Given the description of an element on the screen output the (x, y) to click on. 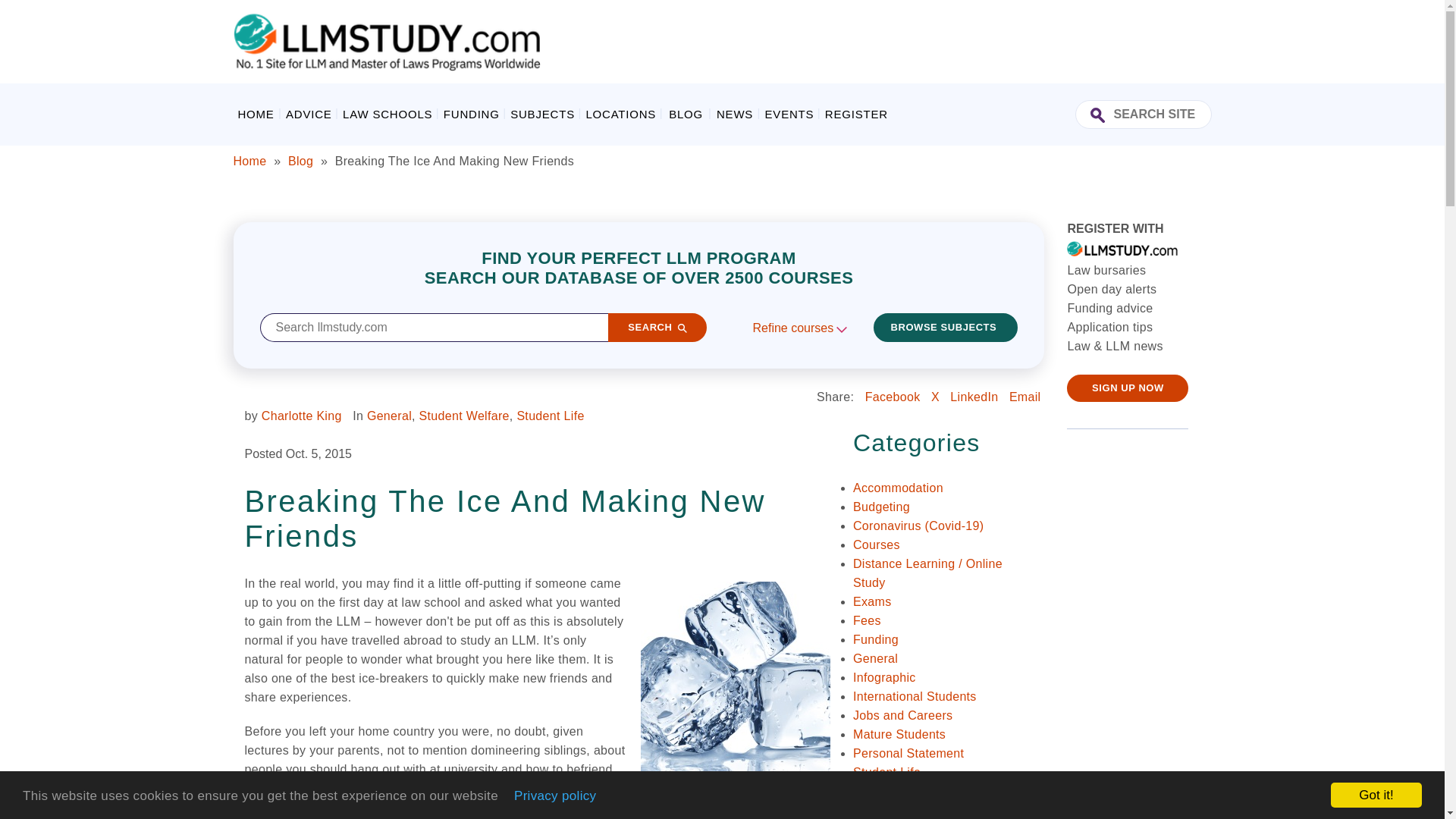
SUBJECTS (542, 113)
LAW SCHOOLS (387, 113)
Search Site: (1143, 113)
3rd party ad content (935, 41)
FUNDING (471, 113)
